Given the description of an element on the screen output the (x, y) to click on. 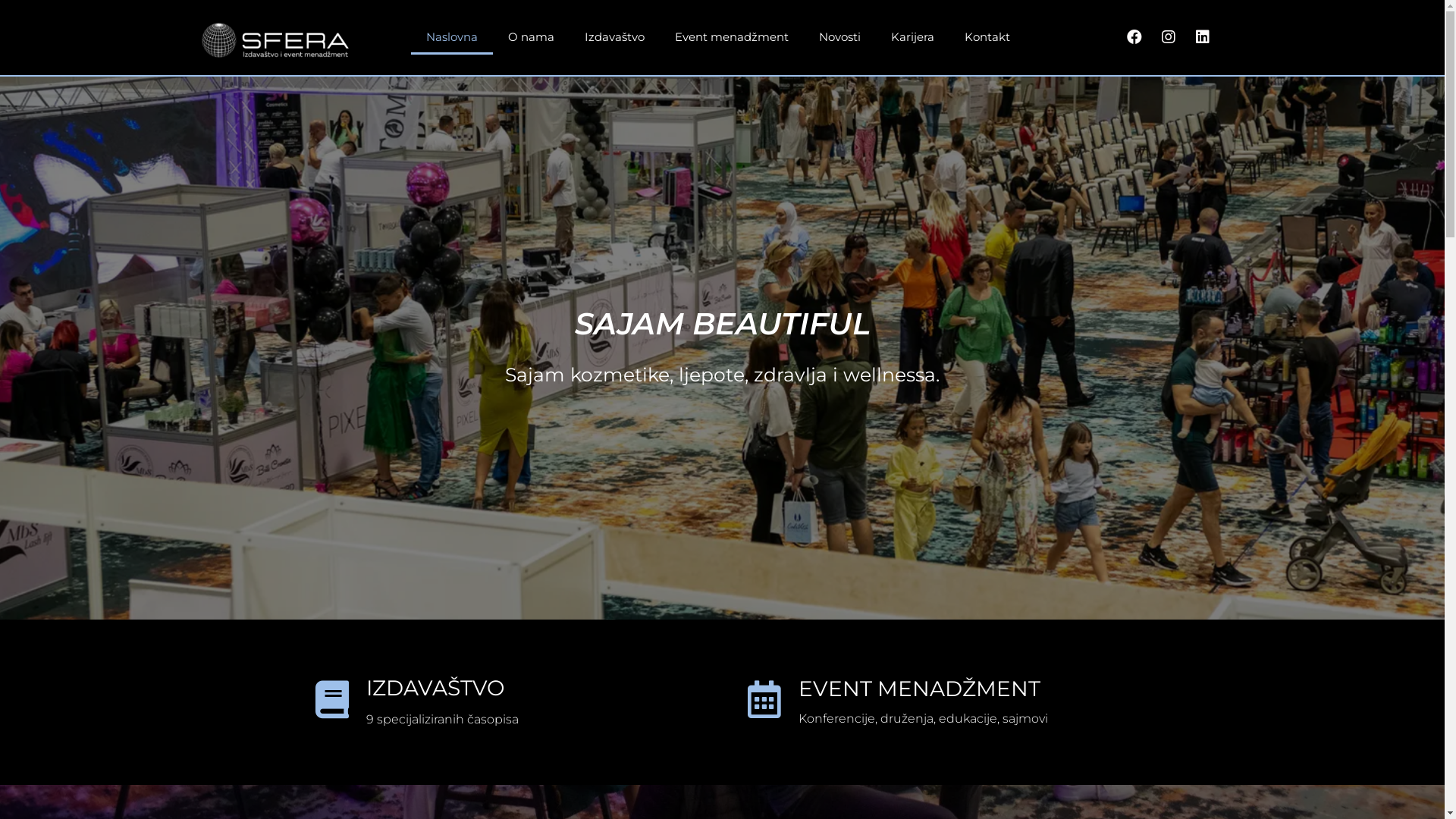
Kontakt Element type: text (987, 36)
Karijera Element type: text (912, 36)
Naslovna Element type: text (451, 36)
Novosti Element type: text (839, 36)
O nama Element type: text (530, 36)
